Given the description of an element on the screen output the (x, y) to click on. 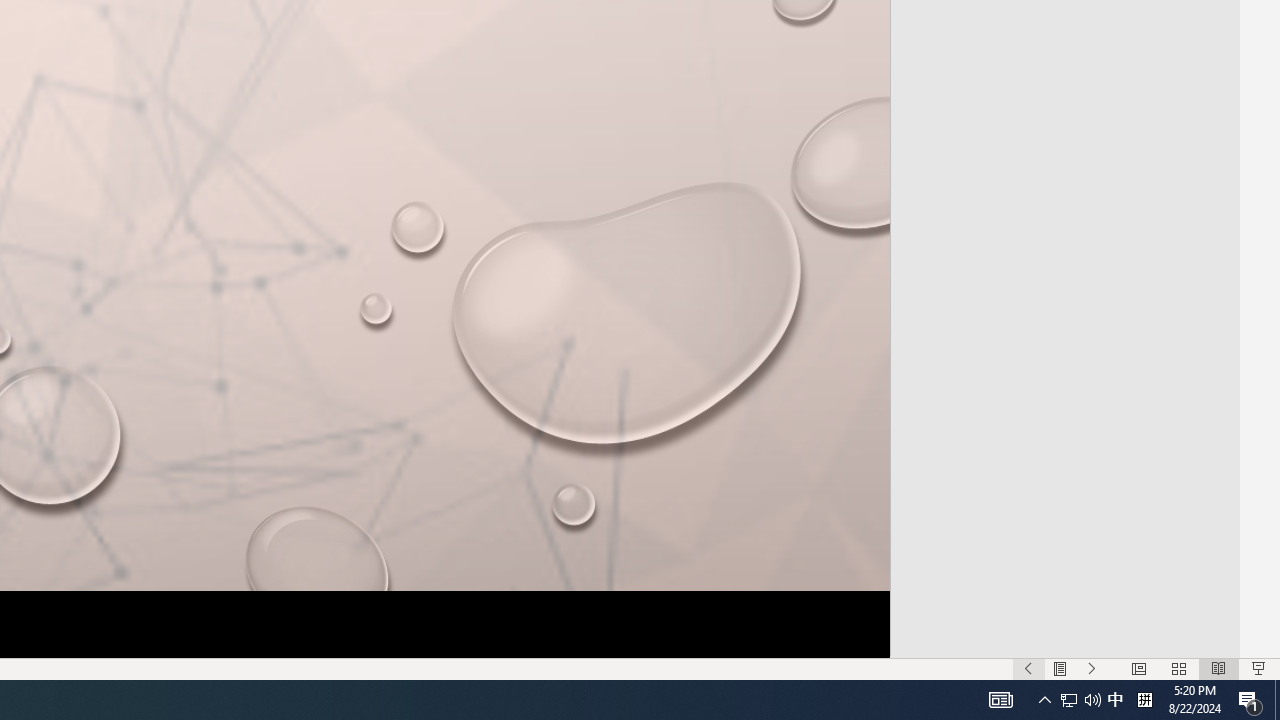
Slide Show Previous On (1028, 668)
Menu On (1060, 668)
Slide Show Next On (1092, 668)
